Given the description of an element on the screen output the (x, y) to click on. 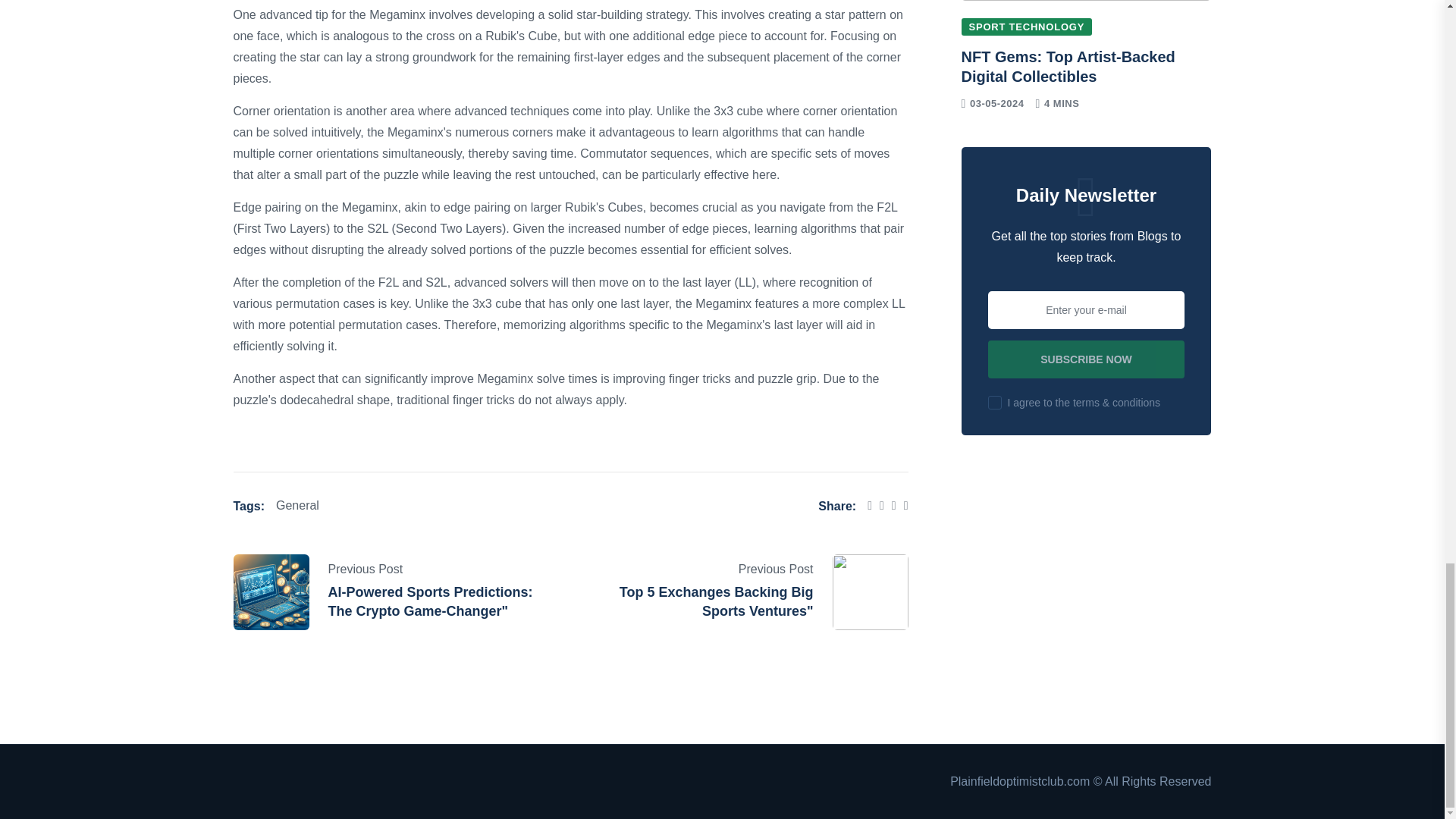
on (994, 402)
AI-Powered Sports Predictions: The Crypto Game-Changer" (429, 601)
Top 5 Exchanges Backing Big Sports Ventures" (716, 601)
